Given the description of an element on the screen output the (x, y) to click on. 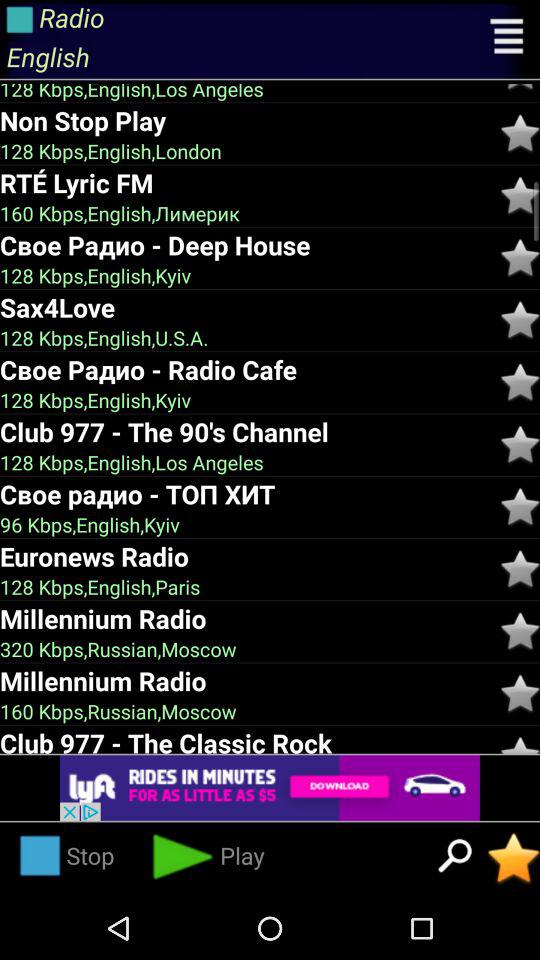
to favorite (520, 506)
